Given the description of an element on the screen output the (x, y) to click on. 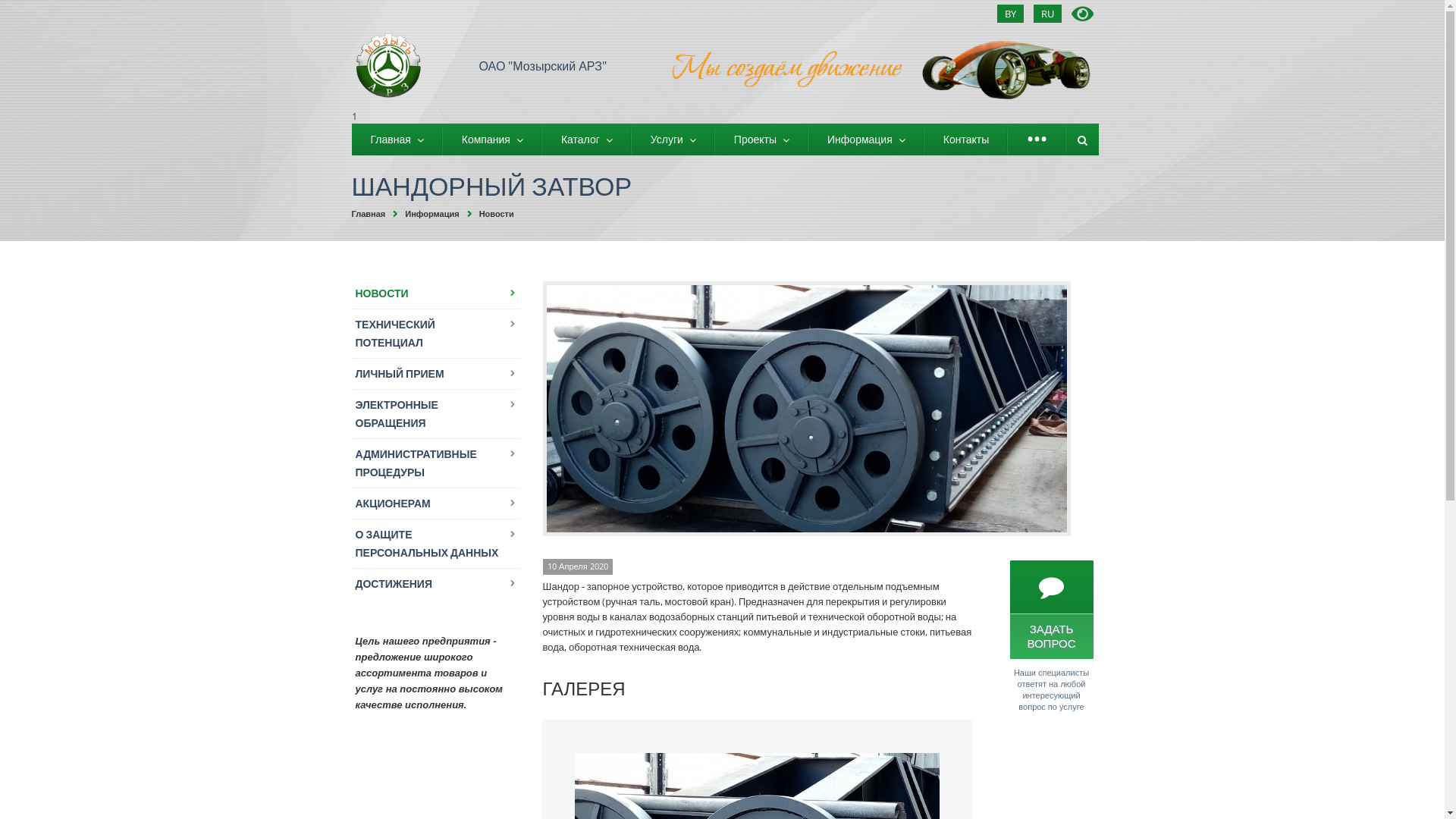
RU Element type: text (1046, 13)
... Element type: text (1036, 139)
BY Element type: text (1009, 13)
